Given the description of an element on the screen output the (x, y) to click on. 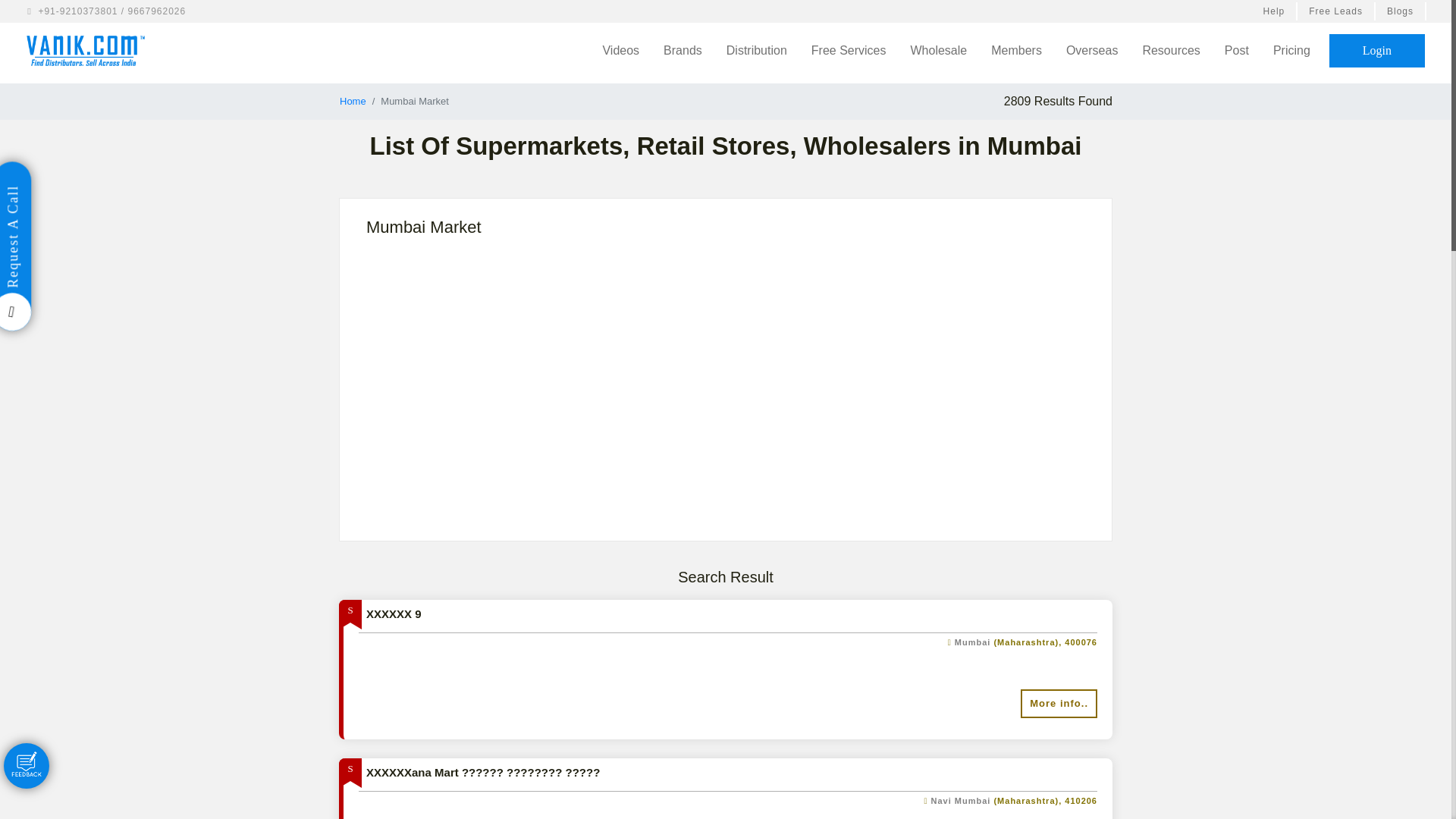
Distribution (756, 50)
Free Services (848, 50)
Wholesale (939, 50)
Videos (620, 50)
Help (1275, 11)
Blogs (1400, 11)
Brands (682, 50)
Members (1016, 50)
Free Leads (1336, 11)
